Given the description of an element on the screen output the (x, y) to click on. 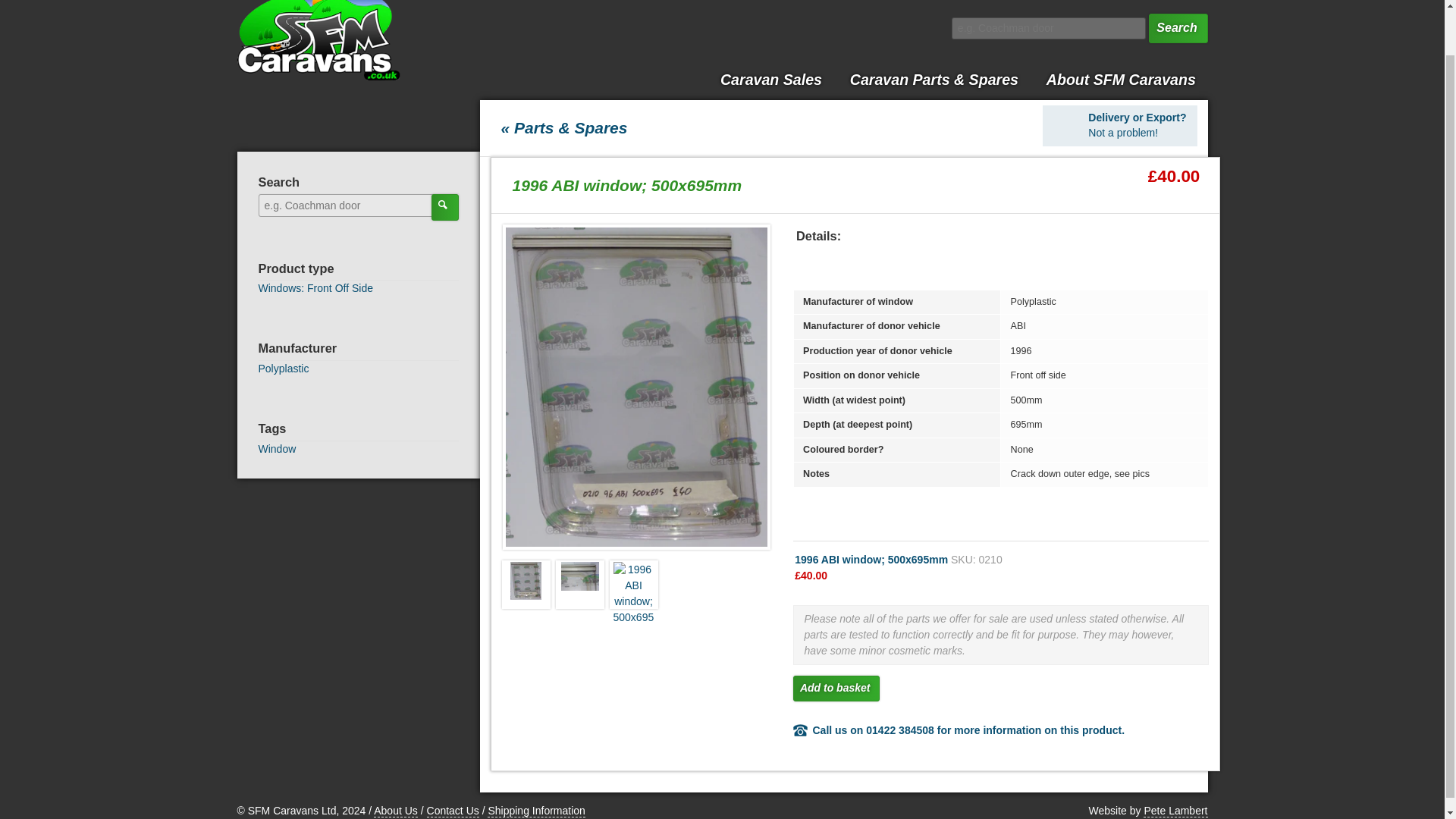
Pete Lambert (1174, 810)
Windows: Front Off Side (314, 287)
Window (1119, 125)
1996 ABI window; 500x695mm (276, 449)
Polyplastic (634, 584)
Contact Us (282, 368)
Add to basket (452, 810)
1996 ABI window; 500x695mm (836, 688)
Add to basket (526, 584)
About SFM Caravans (836, 688)
1996 ABI window; 500x695mm (1120, 78)
Polyplastic (579, 584)
Search (282, 368)
About Us (444, 207)
